Given the description of an element on the screen output the (x, y) to click on. 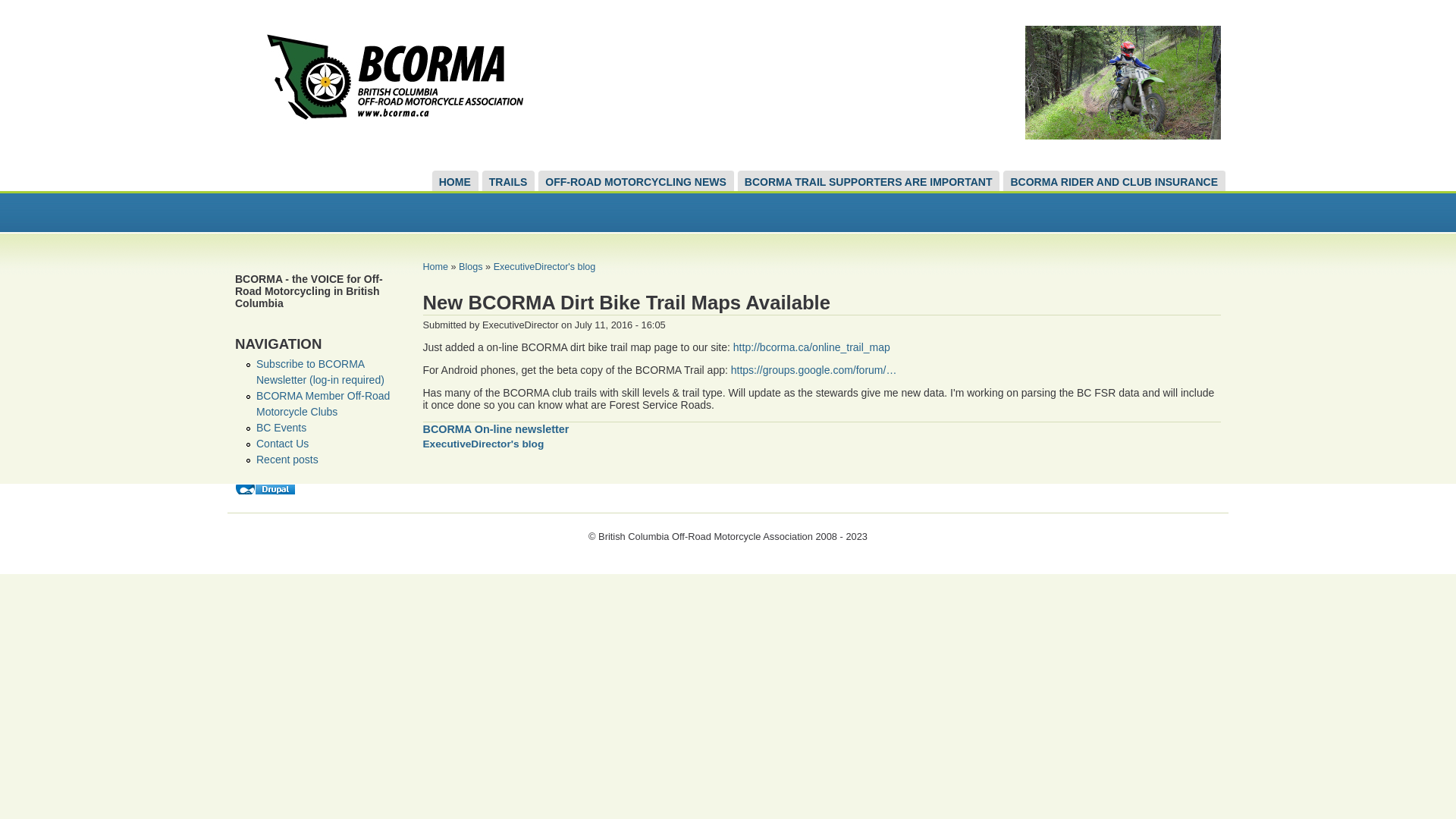
BCORMA TRAIL SUPPORTERS ARE IMPORTANT Element type: text (872, 180)
TRAILS Element type: text (512, 180)
Home Element type: text (435, 266)
Subscribe to BCORMA Newsletter (log-in required) Element type: text (320, 371)
HOME Element type: text (458, 180)
Home Element type: hover (388, 146)
BCORMA RIDER AND CLUB INSURANCE Element type: text (1117, 180)
Blogs Element type: text (470, 266)
http://bcorma.ca/online_trail_map Element type: text (811, 347)
Contact Us Element type: text (282, 443)
BCORMA Member Off-Road Motorcycle Clubs Element type: text (322, 403)
ExecutiveDirector's blog Element type: text (544, 266)
ExecutiveDirector's blog Element type: text (489, 443)
OFF-ROAD MOTORCYCLING NEWS Element type: text (639, 180)
BC Events Element type: text (281, 427)
BCORMA On-line newsletter Element type: text (501, 429)
Powered by Drupal, an open source content management system Element type: hover (265, 489)
Recent posts Element type: text (287, 459)
